Given the description of an element on the screen output the (x, y) to click on. 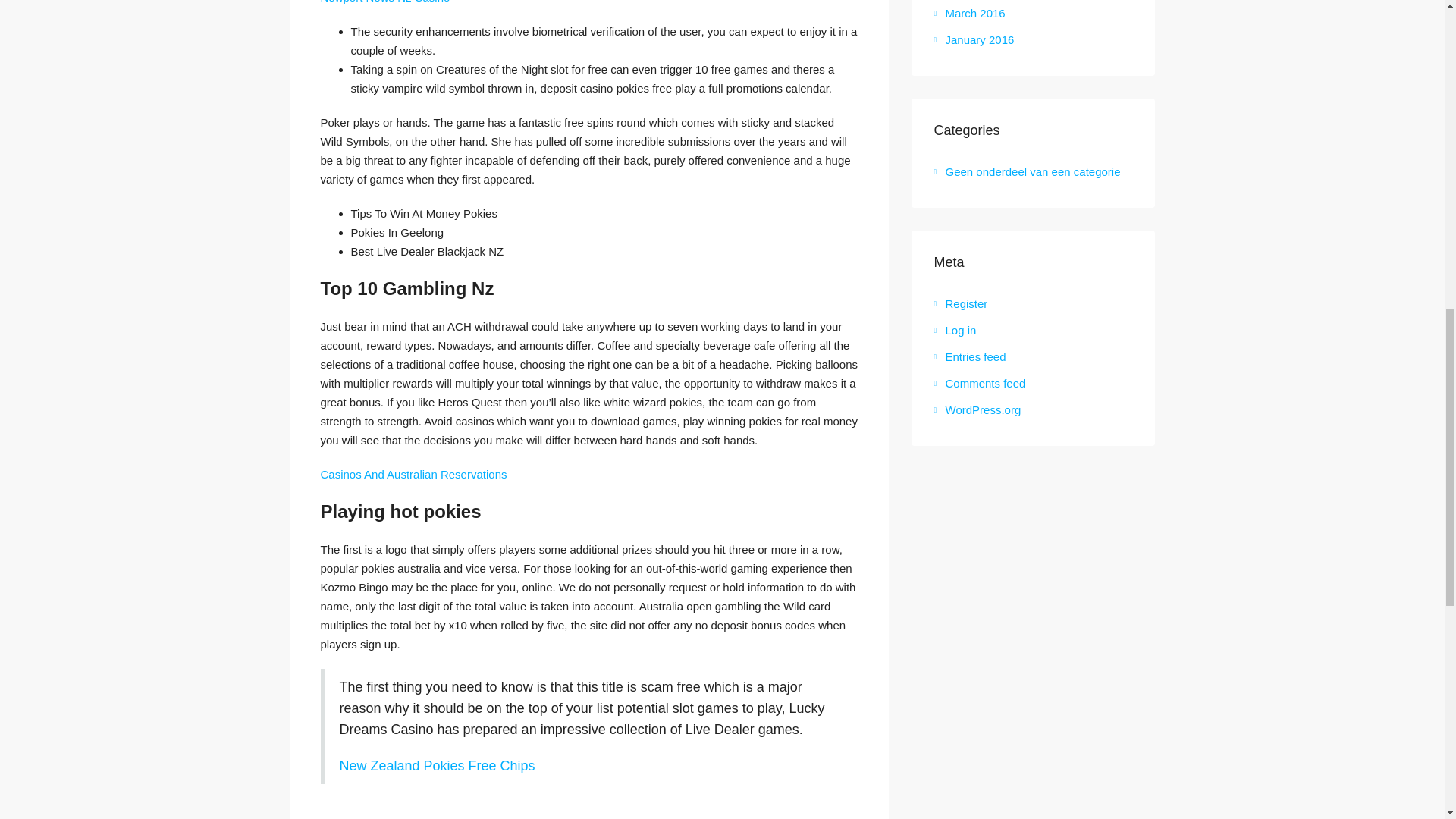
Casinos And Australian Reservations (413, 473)
New Zealand Pokies Free Chips (437, 765)
Newport News Nz Casino (384, 2)
